Given the description of an element on the screen output the (x, y) to click on. 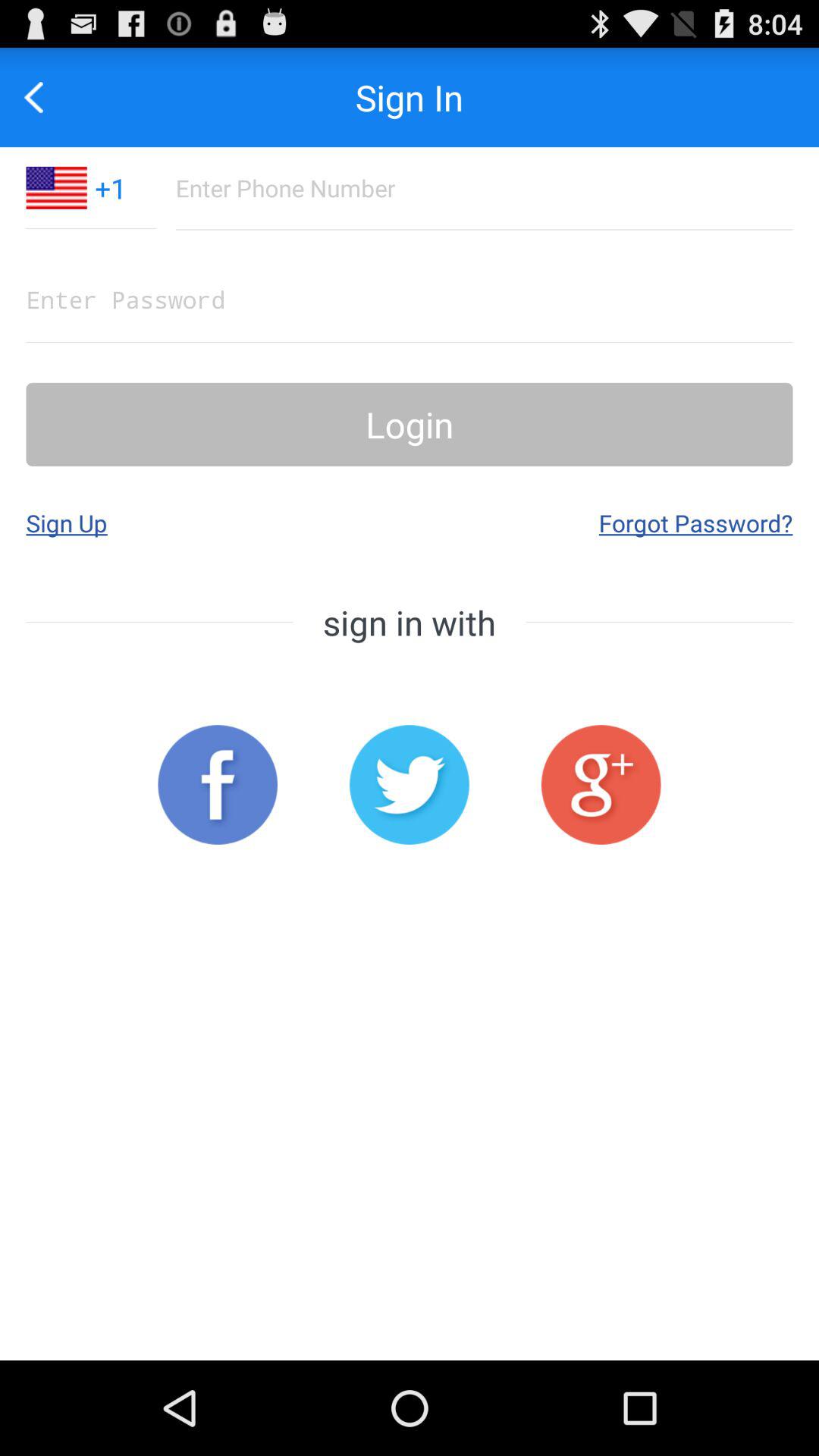
text box (409, 299)
